Given the description of an element on the screen output the (x, y) to click on. 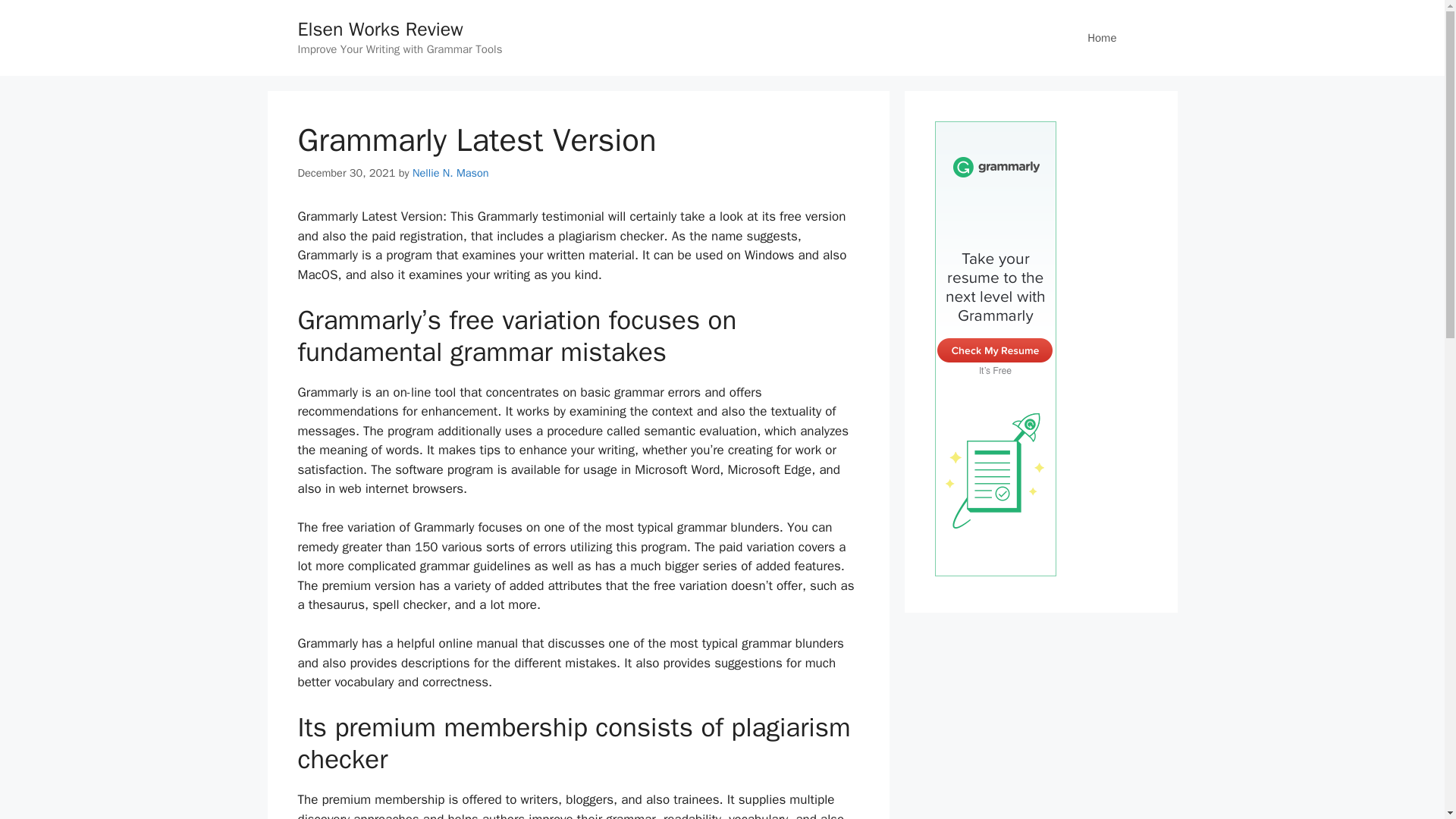
Home (1101, 37)
Nellie N. Mason (450, 172)
View all posts by Nellie N. Mason (450, 172)
Elsen Works Review (380, 28)
